Given the description of an element on the screen output the (x, y) to click on. 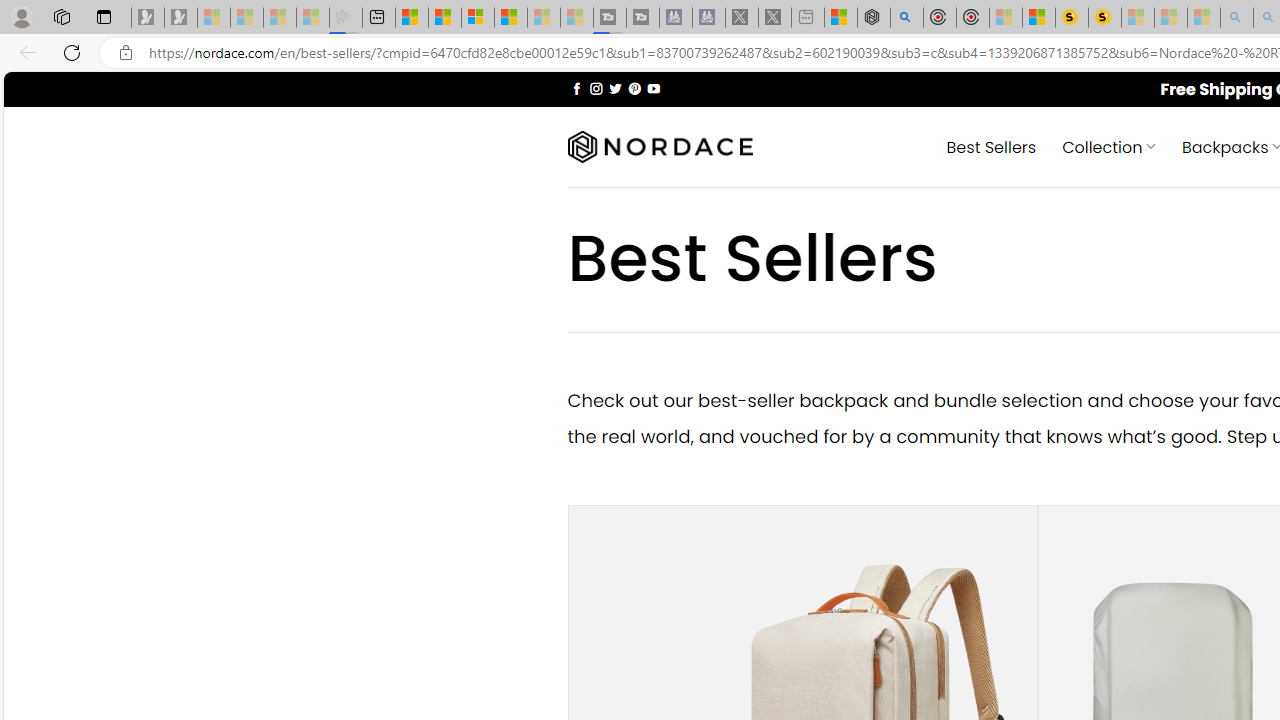
Microsoft Start - Sleeping (543, 17)
 Best Sellers (990, 146)
Newsletter Sign Up - Sleeping (181, 17)
